Given the description of an element on the screen output the (x, y) to click on. 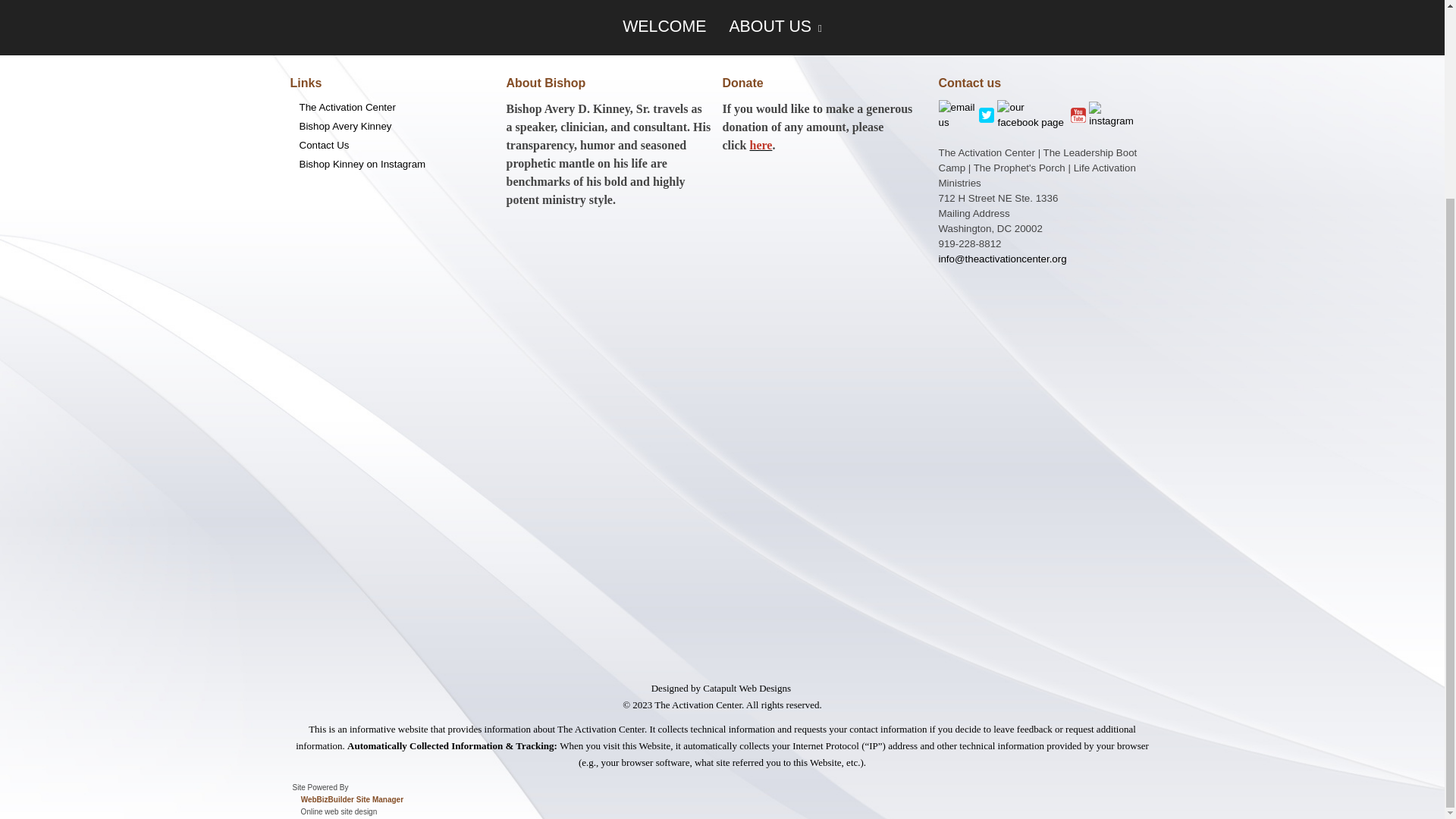
here (760, 144)
Bishop Kinney on Instagram (392, 164)
Contact Us (392, 145)
The Activation Center (392, 107)
Bishop Avery Kinney (392, 126)
WebBizBuilder Site Manager (352, 799)
